Given the description of an element on the screen output the (x, y) to click on. 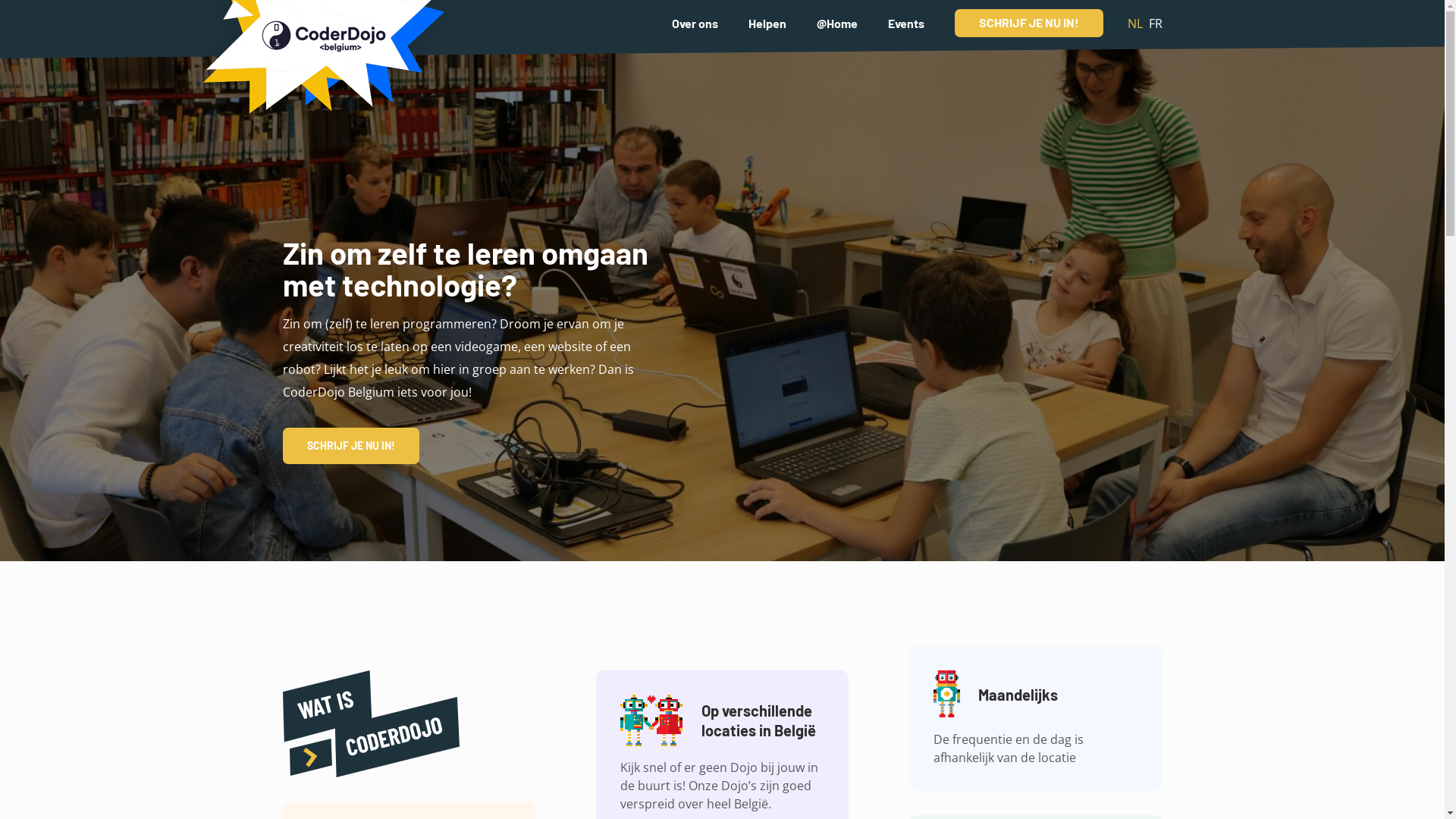
@Home Element type: text (835, 22)
SCHRIJF JE NU IN! Element type: text (350, 445)
Over ons Element type: text (694, 22)
NL Element type: text (1134, 23)
FR Element type: text (1154, 23)
Coderdojo Element type: text (319, 69)
SCHRIJF JE NU IN! Element type: text (1027, 23)
Helpen Element type: text (766, 22)
Events Element type: text (905, 22)
